Given the description of an element on the screen output the (x, y) to click on. 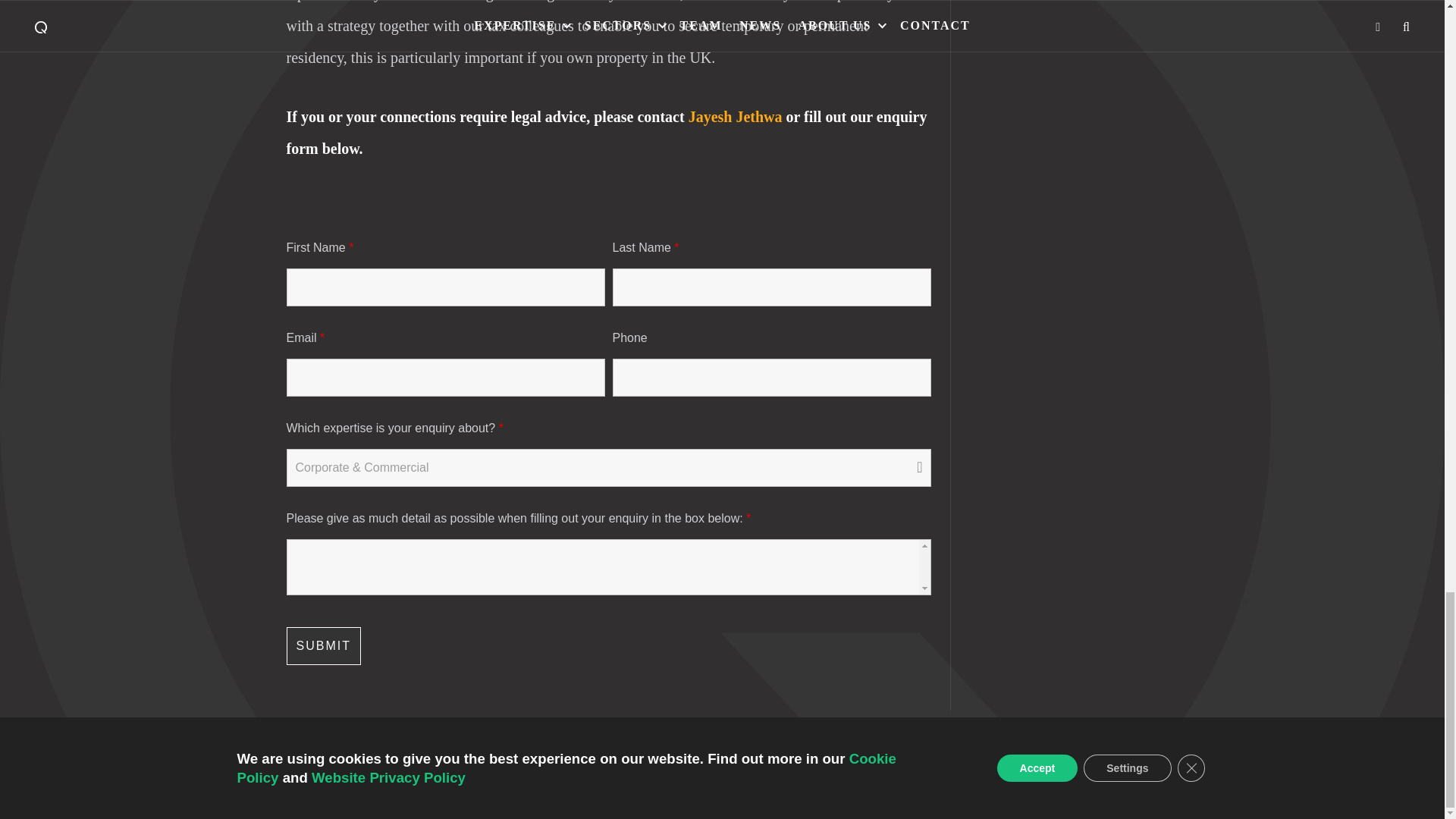
Submit (323, 646)
